Given the description of an element on the screen output the (x, y) to click on. 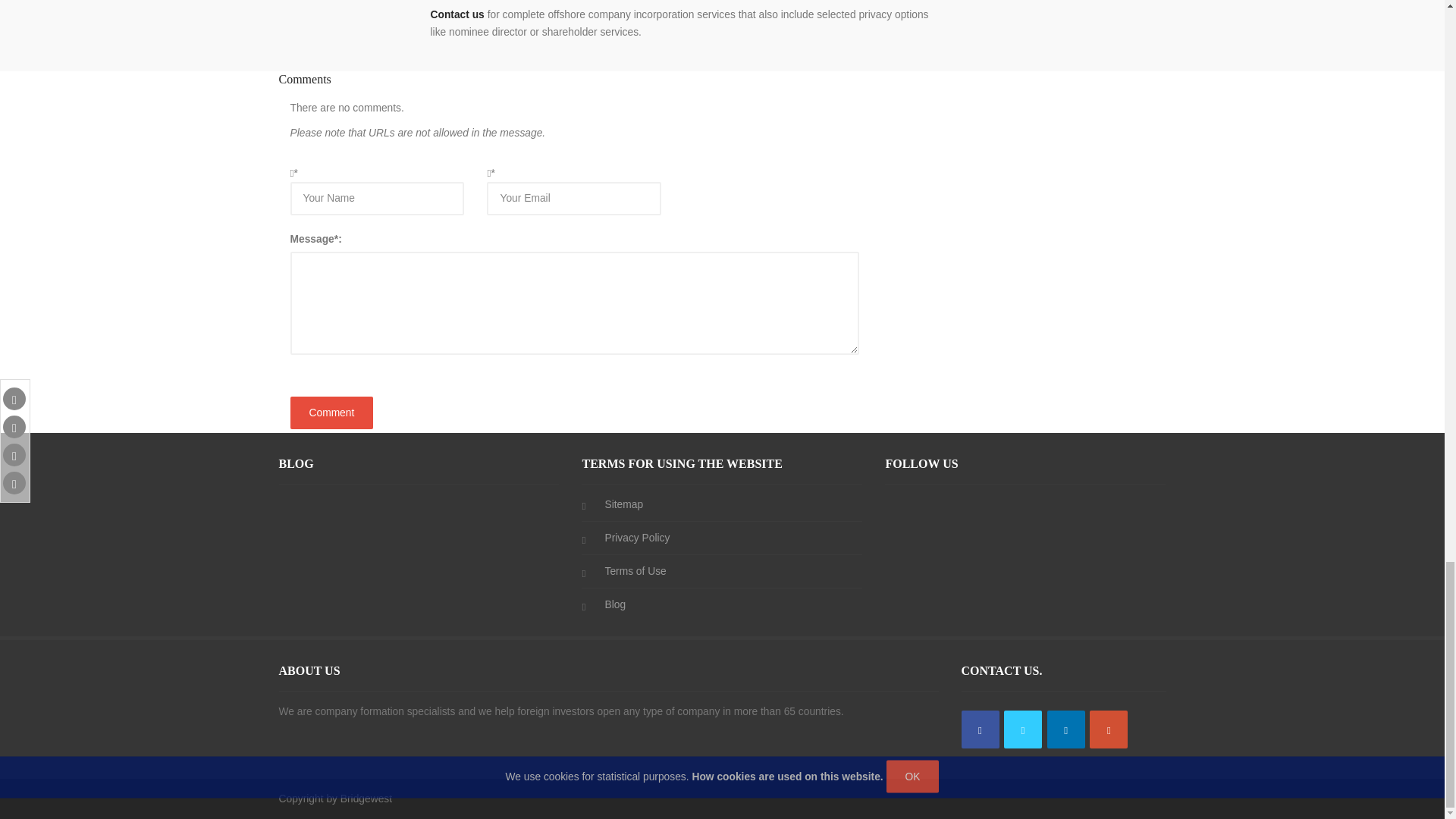
Sitemap (623, 503)
Contact us (457, 13)
Terms of Use (634, 570)
Privacy Policy (636, 536)
Comment (330, 412)
Comment (330, 412)
